Given the description of an element on the screen output the (x, y) to click on. 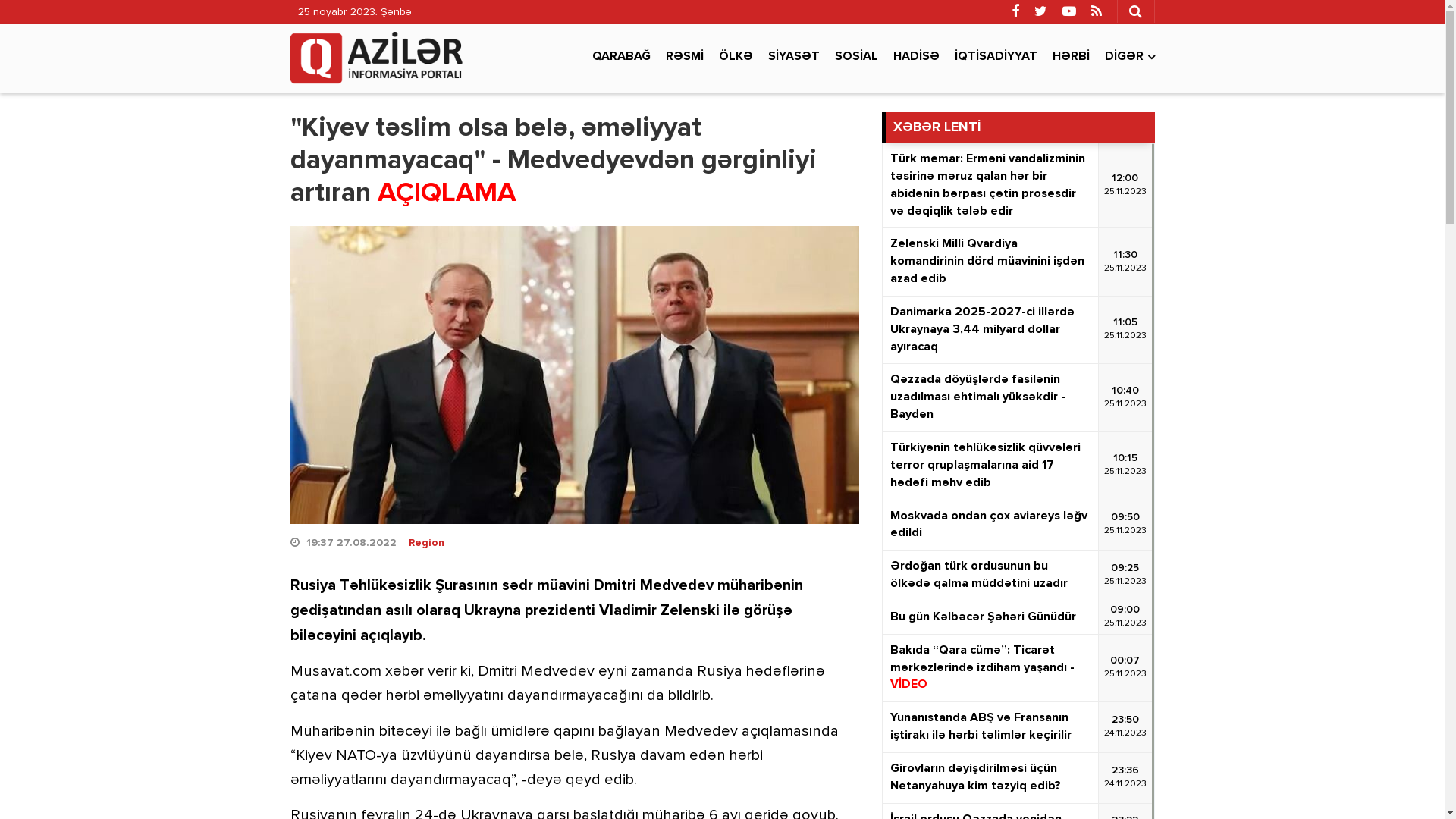
Region Element type: text (425, 542)
SOSIAL Element type: text (855, 56)
